Given the description of an element on the screen output the (x, y) to click on. 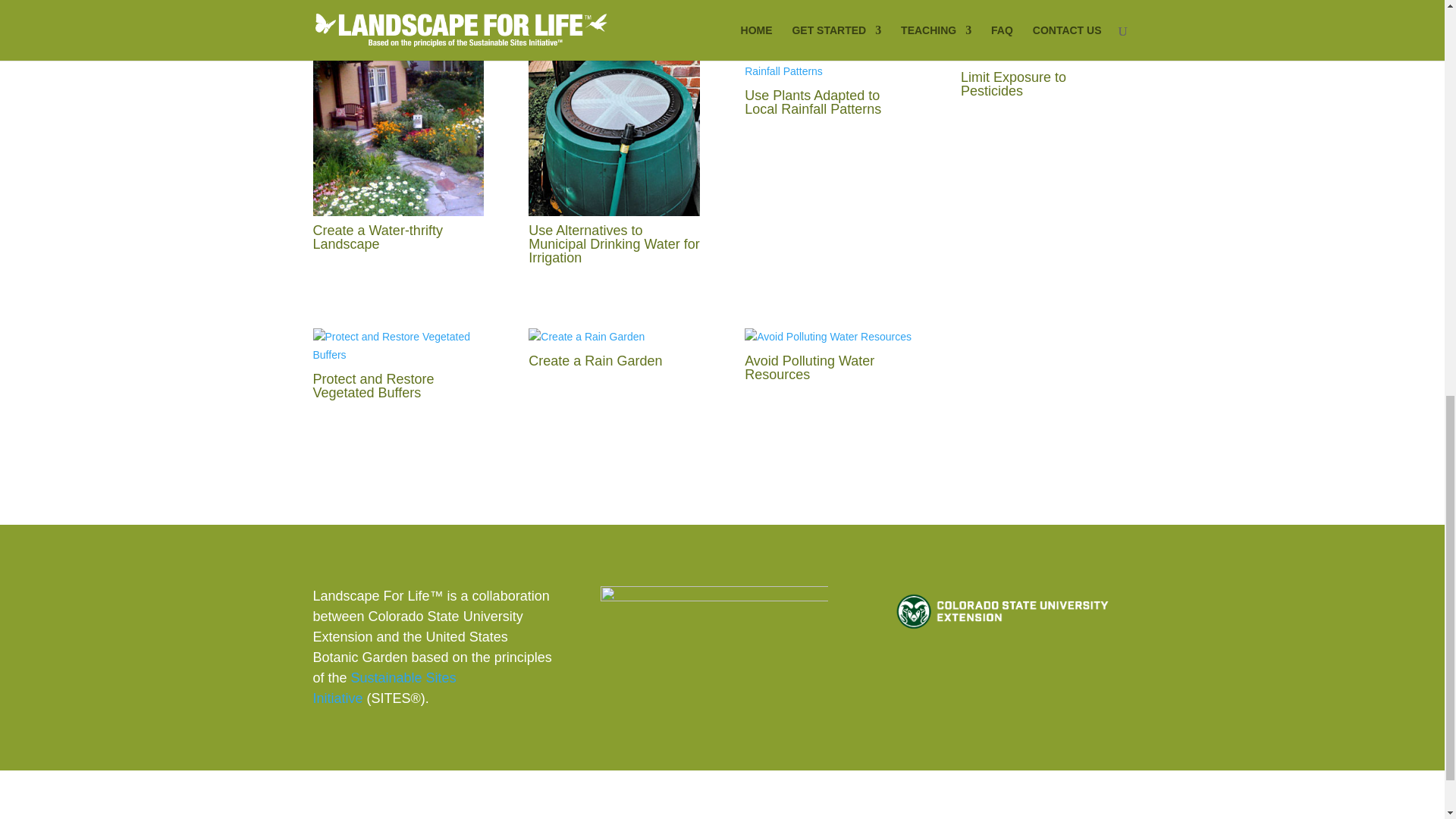
Use Plants Adapted to Local Rainfall Patterns (812, 102)
Sustainable Sites Initiative (384, 687)
Use Alternatives to Municipal Drinking Water for Irrigation (613, 243)
Create a Water-thrifty Landscape (377, 236)
Limit Exposure to Pesticides (1012, 83)
Protect and Restore Vegetated Buffers (373, 385)
Colorado State University Extension logo (1002, 611)
Create a Rain Garden (595, 360)
Avoid Polluting Water Resources (809, 367)
